Given the description of an element on the screen output the (x, y) to click on. 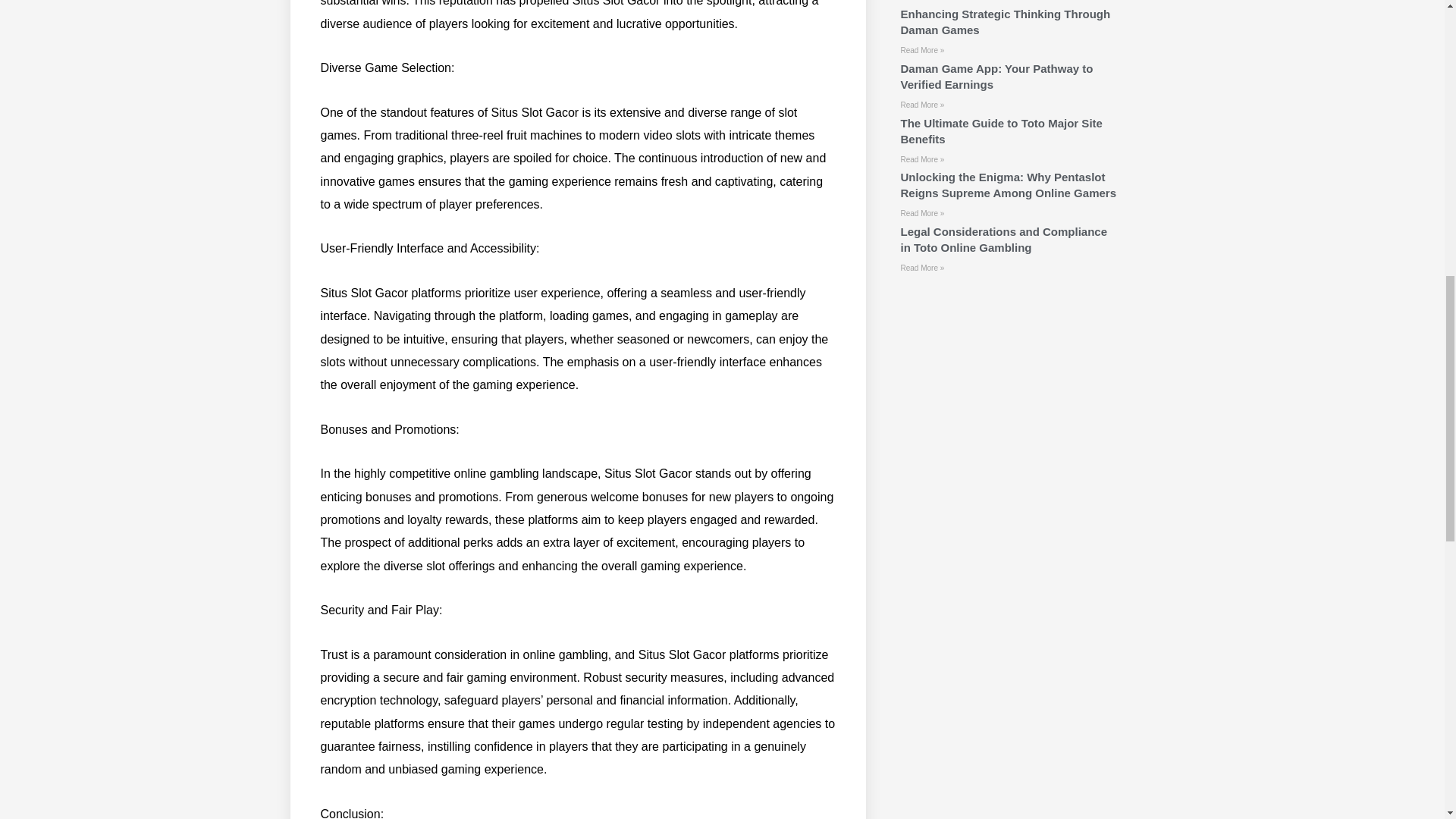
Legal Considerations and Compliance in Toto Online Gambling (1002, 239)
Enhancing Strategic Thinking Through Daman Games (1004, 21)
The Ultimate Guide to Toto Major Site Benefits (1000, 131)
Daman Game App: Your Pathway to Verified Earnings (996, 76)
